Given the description of an element on the screen output the (x, y) to click on. 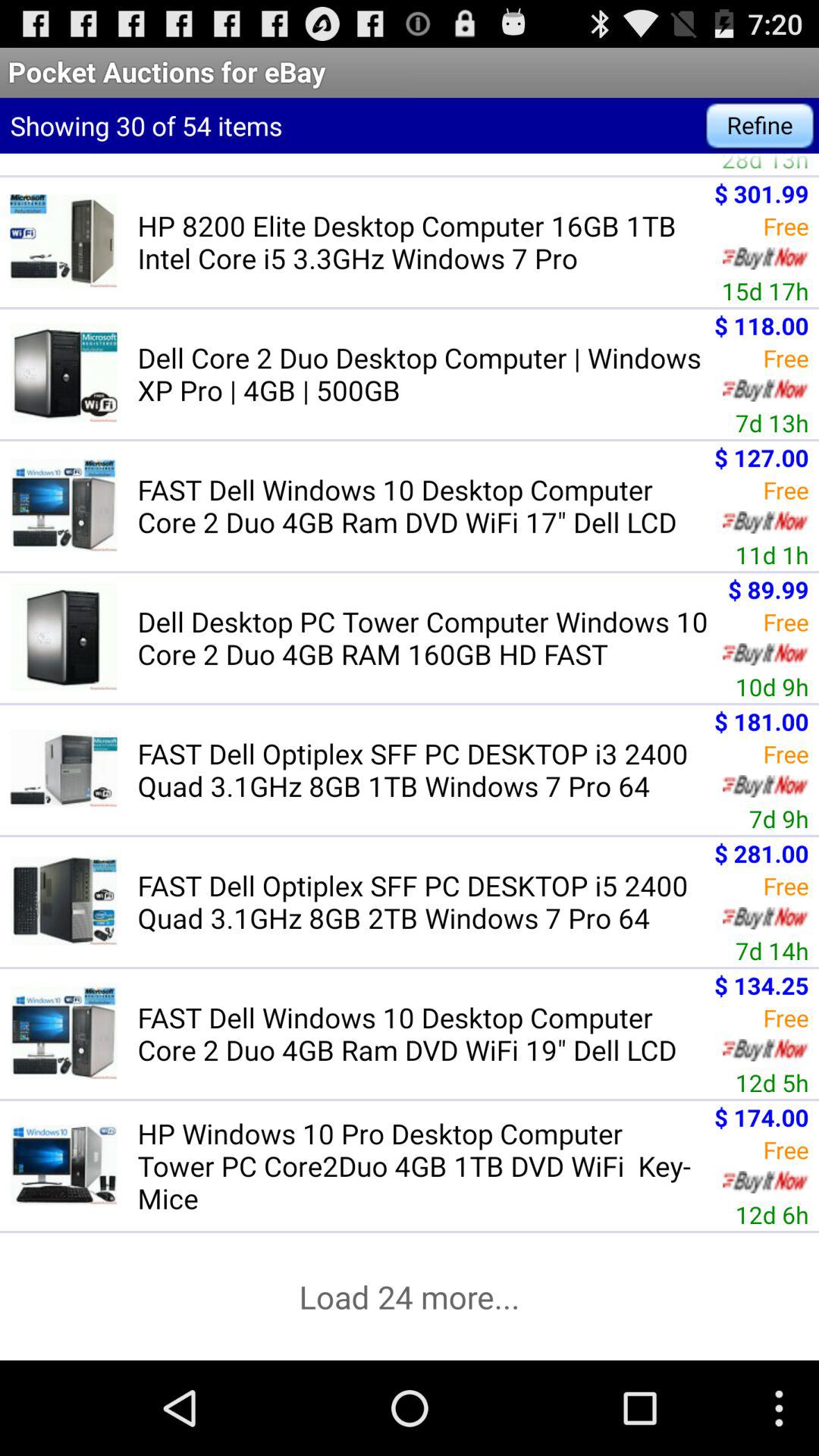
choose 11d 1h item (771, 554)
